Given the description of an element on the screen output the (x, y) to click on. 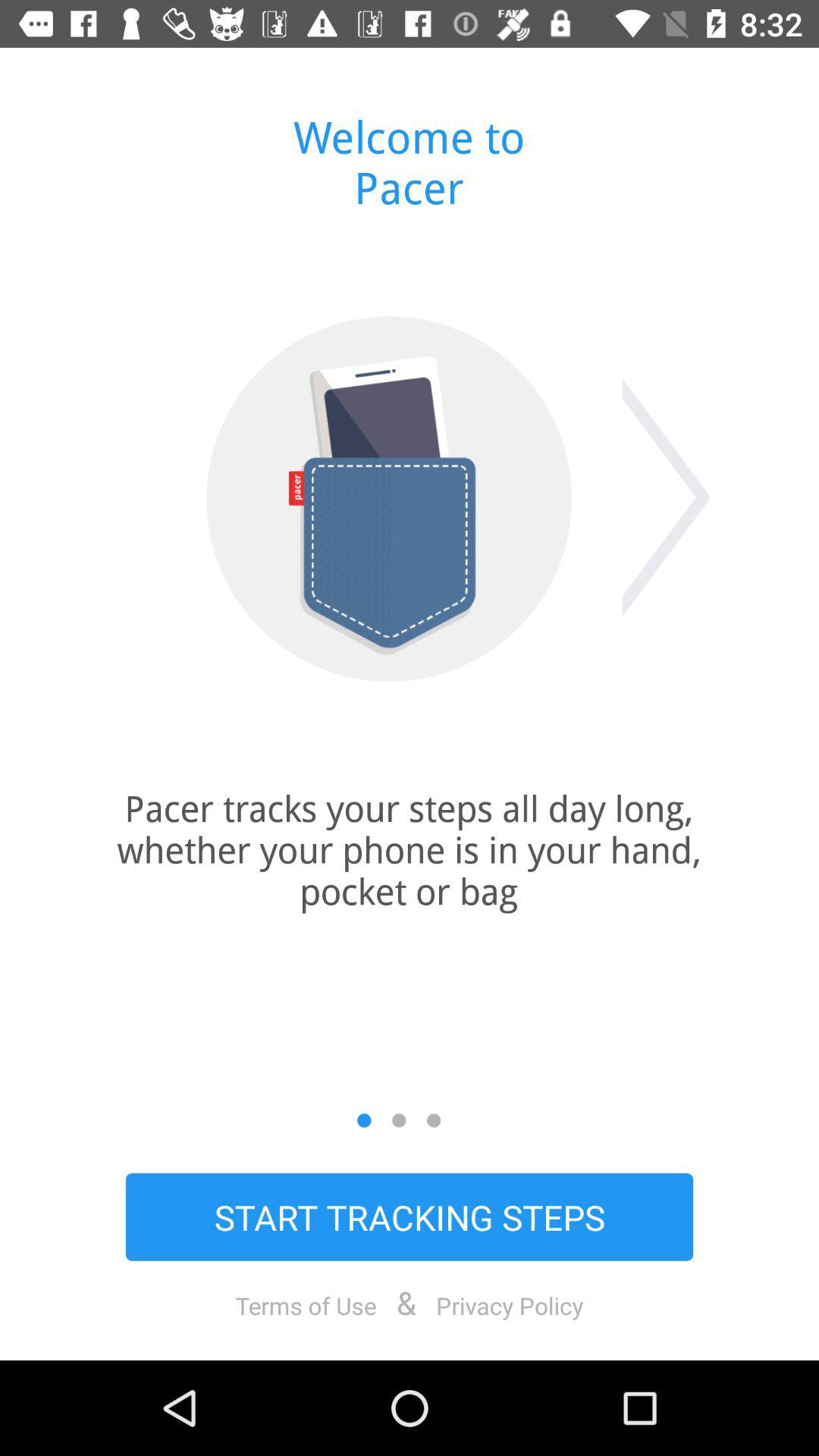
press the icon to the right of & (509, 1305)
